Given the description of an element on the screen output the (x, y) to click on. 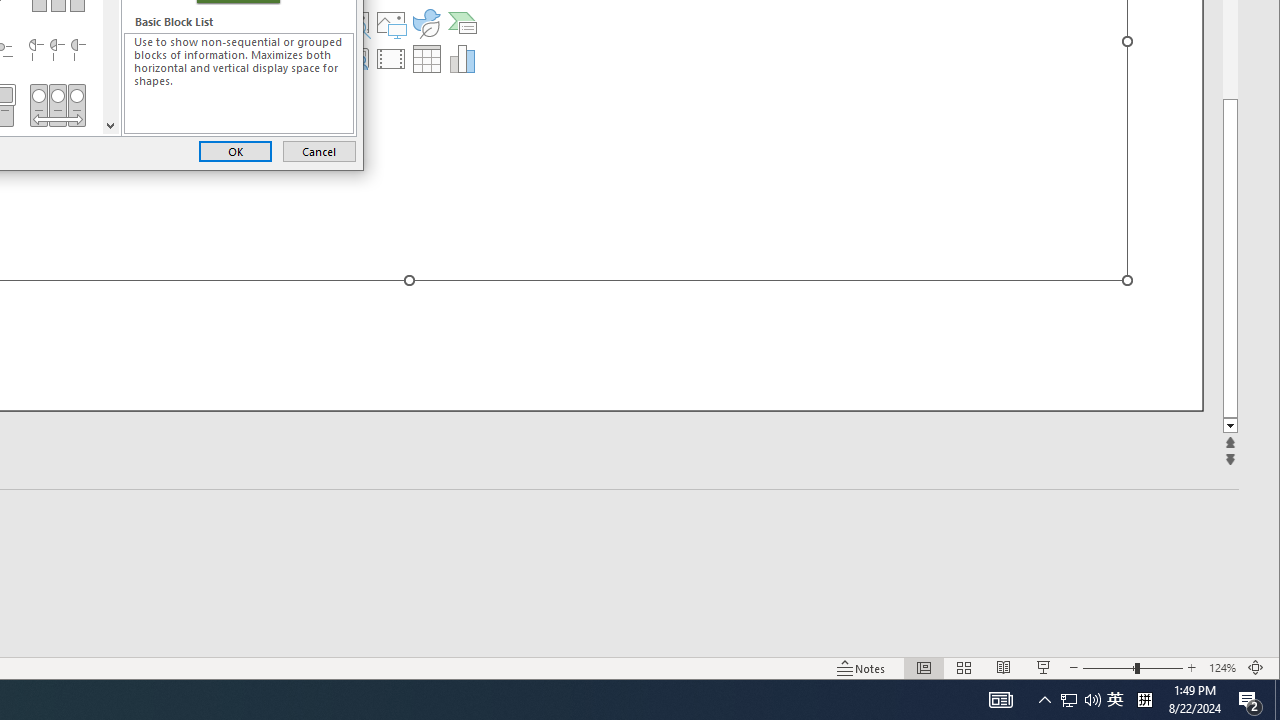
Insert a SmartArt Graphic (462, 22)
